Given the description of an element on the screen output the (x, y) to click on. 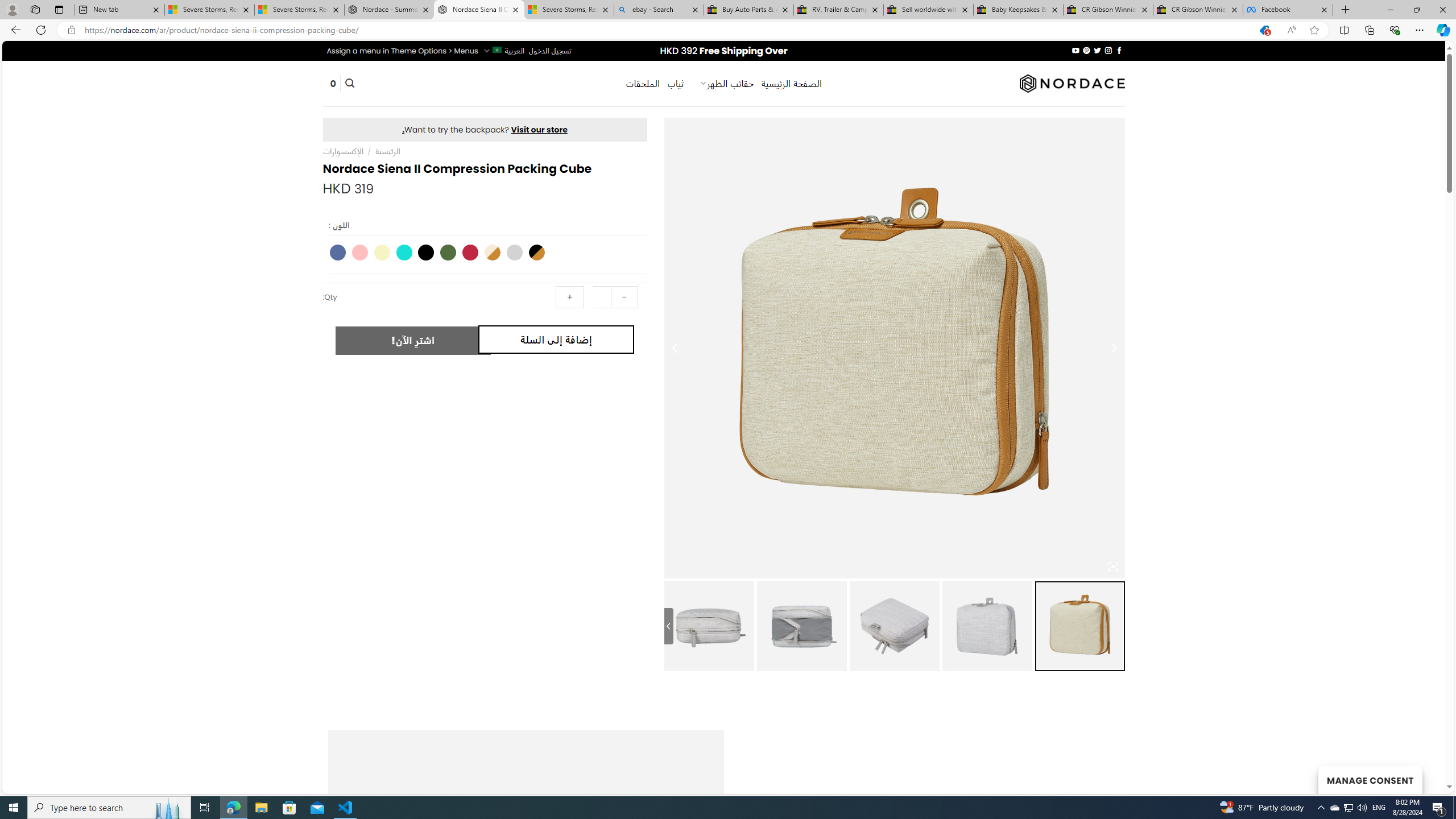
MANAGE CONSENT (1369, 779)
Assign a menu in Theme Options > Menus (402, 50)
Settings and more (Alt+F) (1419, 29)
View site information (70, 29)
Copilot (Ctrl+Shift+.) (1442, 29)
Nordace - Summer Adventures 2024 (389, 9)
Workspaces (34, 9)
Restore (1416, 9)
